Given the description of an element on the screen output the (x, y) to click on. 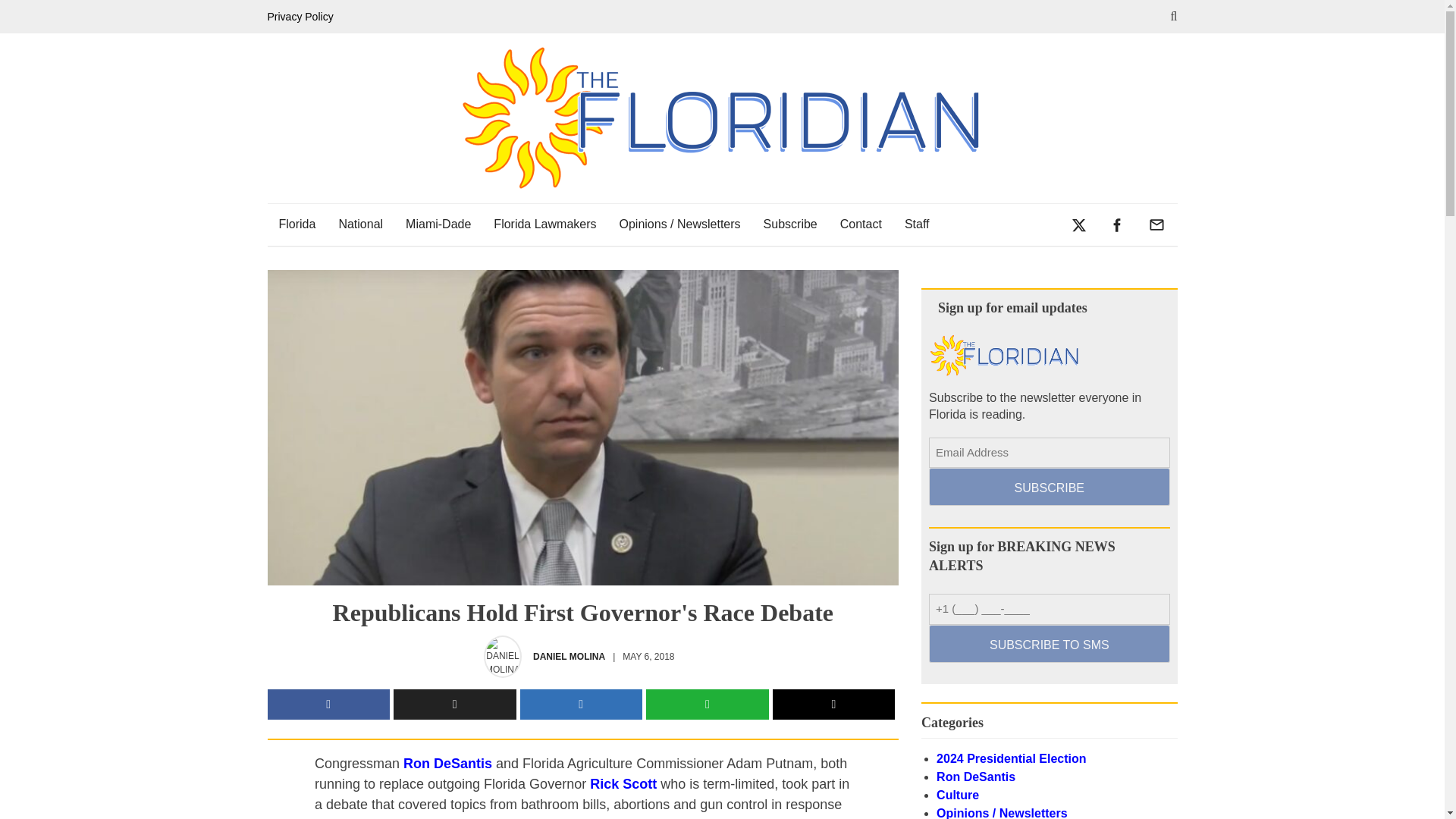
Privacy Policy (303, 16)
Florida Lawmakers (544, 223)
SUBSCRIBE (1048, 486)
Subscribe (790, 223)
National (360, 223)
Contact (860, 223)
SUBSCRIBE TO SMS (1048, 643)
Florida (296, 223)
Ron DeSantis (447, 763)
Staff (916, 223)
